Given the description of an element on the screen output the (x, y) to click on. 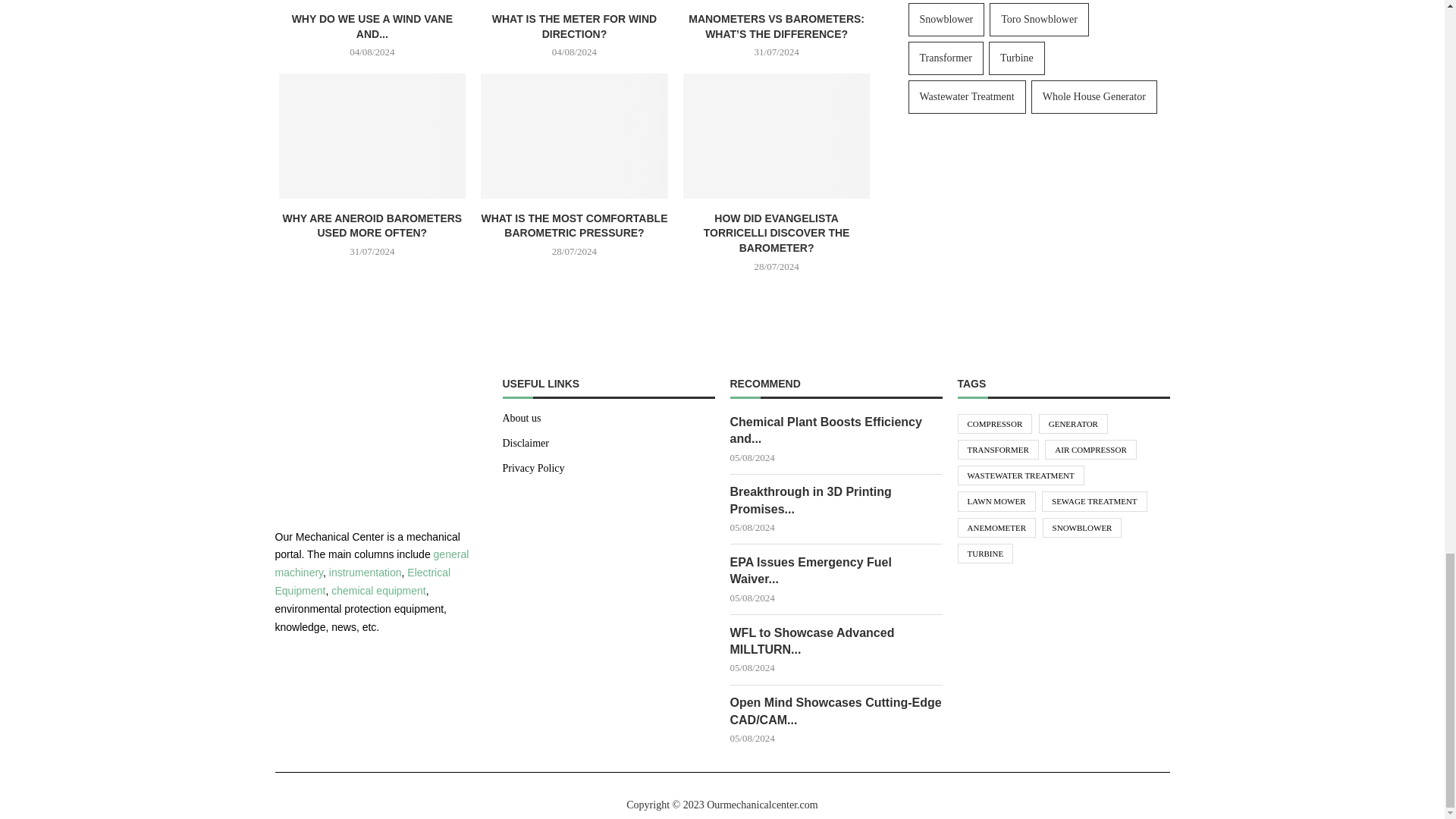
Why Are Aneroid Barometers Used More Often? (372, 135)
What Is The Most Comfortable Barometric Pressure? (574, 135)
How did Evangelista Torricelli discover the barometer? (776, 135)
